Given the description of an element on the screen output the (x, y) to click on. 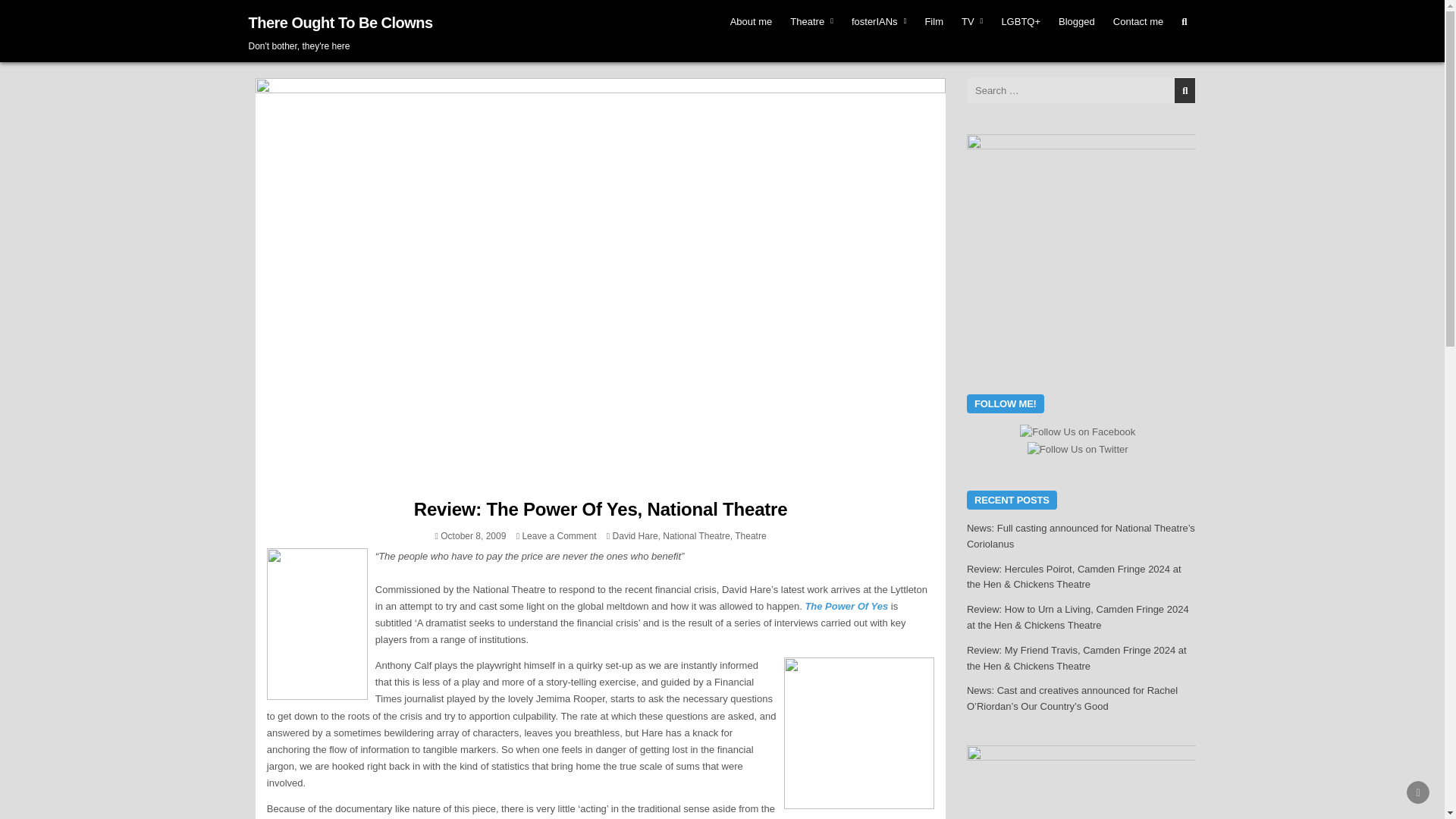
Theatre (811, 21)
About me (750, 21)
SCROLL TO TOP (1417, 792)
There Ought To Be Clowns (340, 22)
